Given the description of an element on the screen output the (x, y) to click on. 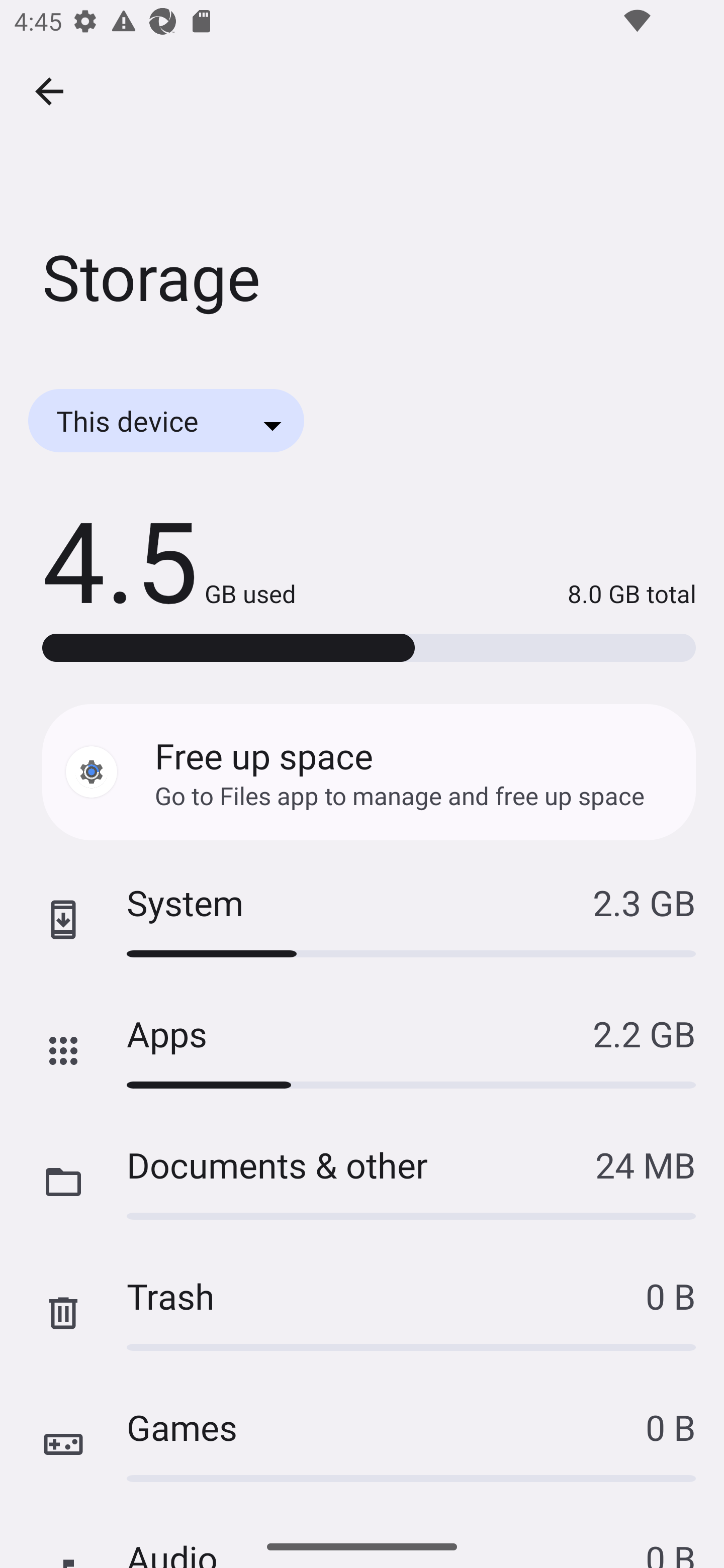
Navigate up (49, 91)
This device (166, 419)
System 2.3 GB 28.0 (362, 920)
Apps 2.2 GB 27.0 (362, 1051)
Documents & other 24 MB 0.0 (362, 1182)
Trash 0 B 0.0 (362, 1313)
Games 0 B 0.0 (362, 1443)
